Given the description of an element on the screen output the (x, y) to click on. 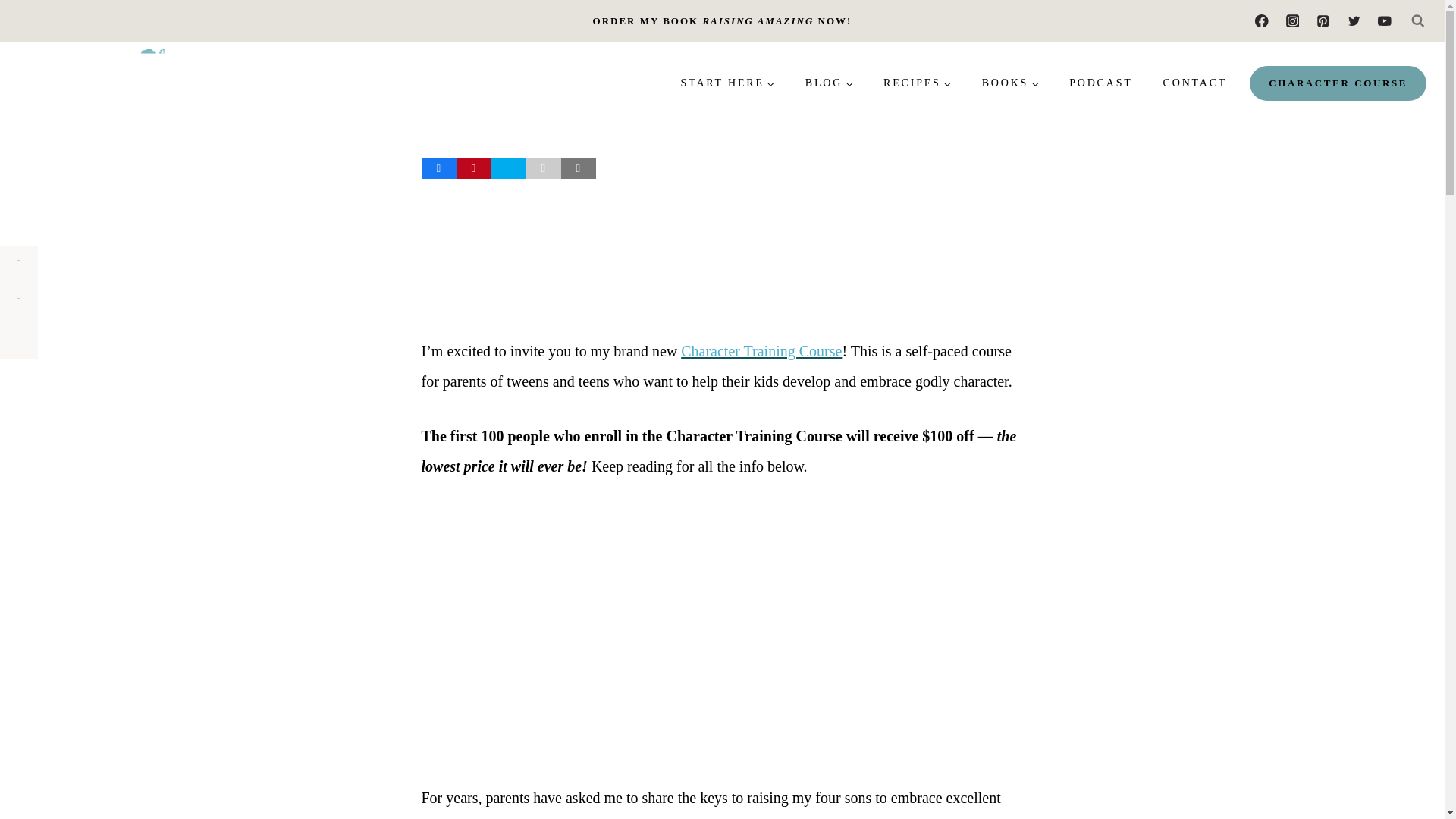
PODCAST (1100, 83)
CHARACTER COURSE (1337, 83)
ORDER MY BOOK RAISING AMAZING NOW! (721, 20)
RECIPES (916, 83)
START HERE (727, 83)
BLOG (828, 83)
BOOKS (1010, 83)
CONTACT (1195, 83)
